Given the description of an element on the screen output the (x, y) to click on. 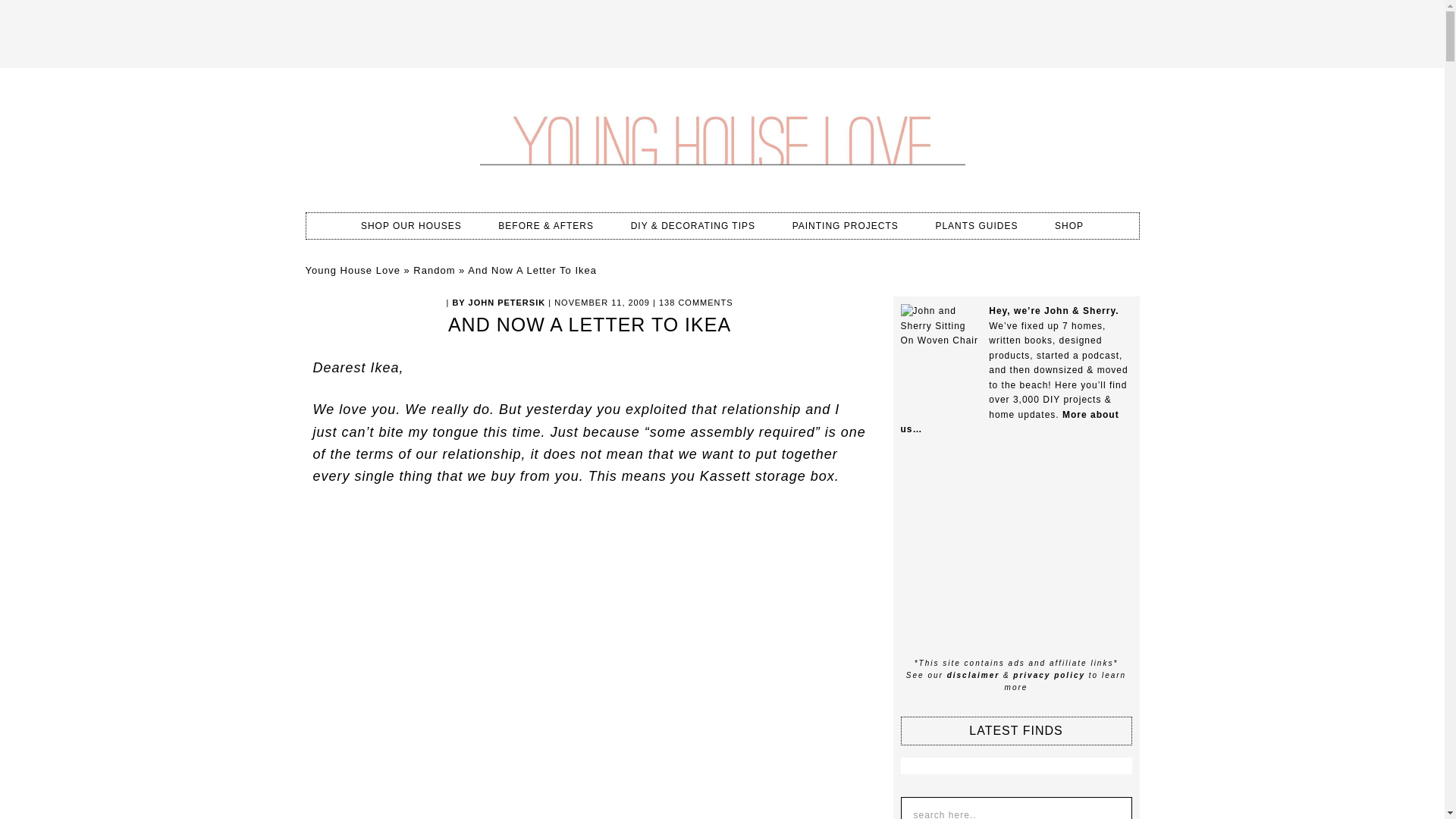
PLANTS GUIDES (975, 225)
View Sources For Our Current Home (411, 225)
Random (433, 270)
138 COMMENTS (696, 302)
PAINTING PROJECTS (845, 225)
Young House Love (351, 270)
YOUNG HOUSE LOVE (721, 136)
SHOP OUR HOUSES (411, 225)
JOHN PETERSIK (507, 302)
Before and After Photos Of Our Homes (545, 225)
SHOP (1069, 225)
